Given the description of an element on the screen output the (x, y) to click on. 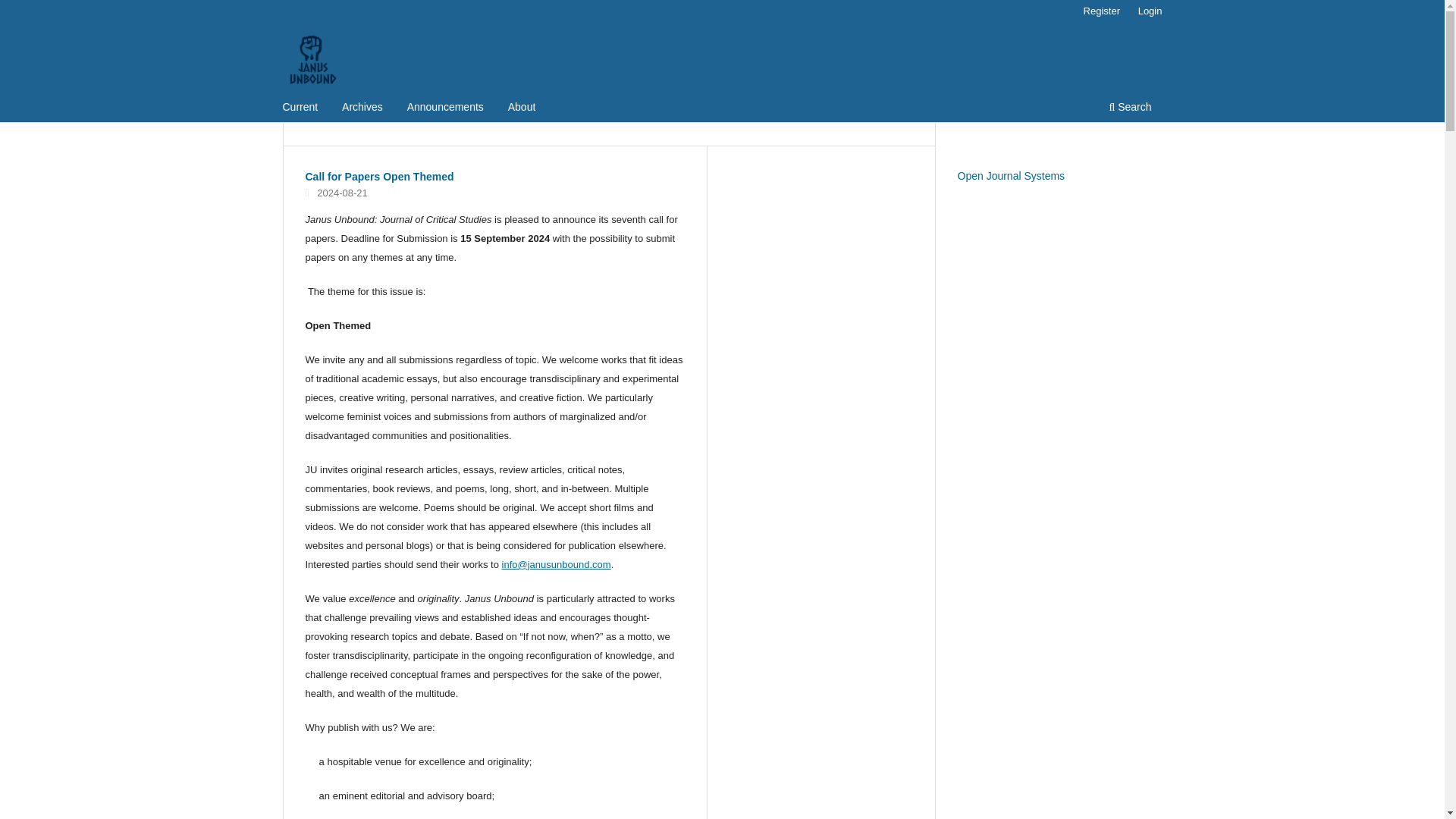
Current (300, 108)
Archives (362, 108)
Announcements (445, 108)
Search (1129, 108)
About (521, 108)
Login (1150, 11)
Register (1100, 11)
Call for Papers Open Themed (378, 176)
